Given the description of an element on the screen output the (x, y) to click on. 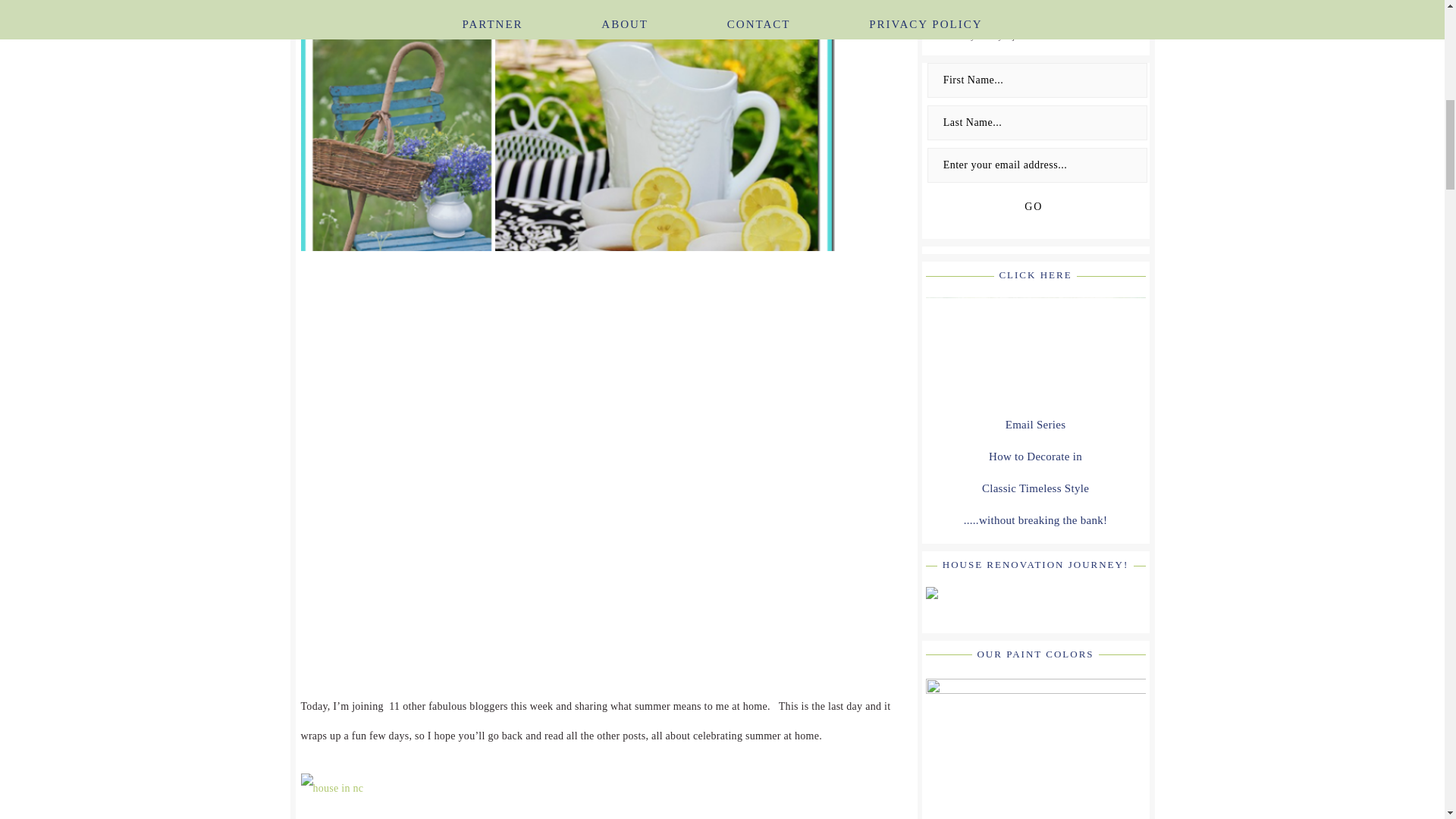
house in nc (330, 788)
Go (1032, 206)
